Given the description of an element on the screen output the (x, y) to click on. 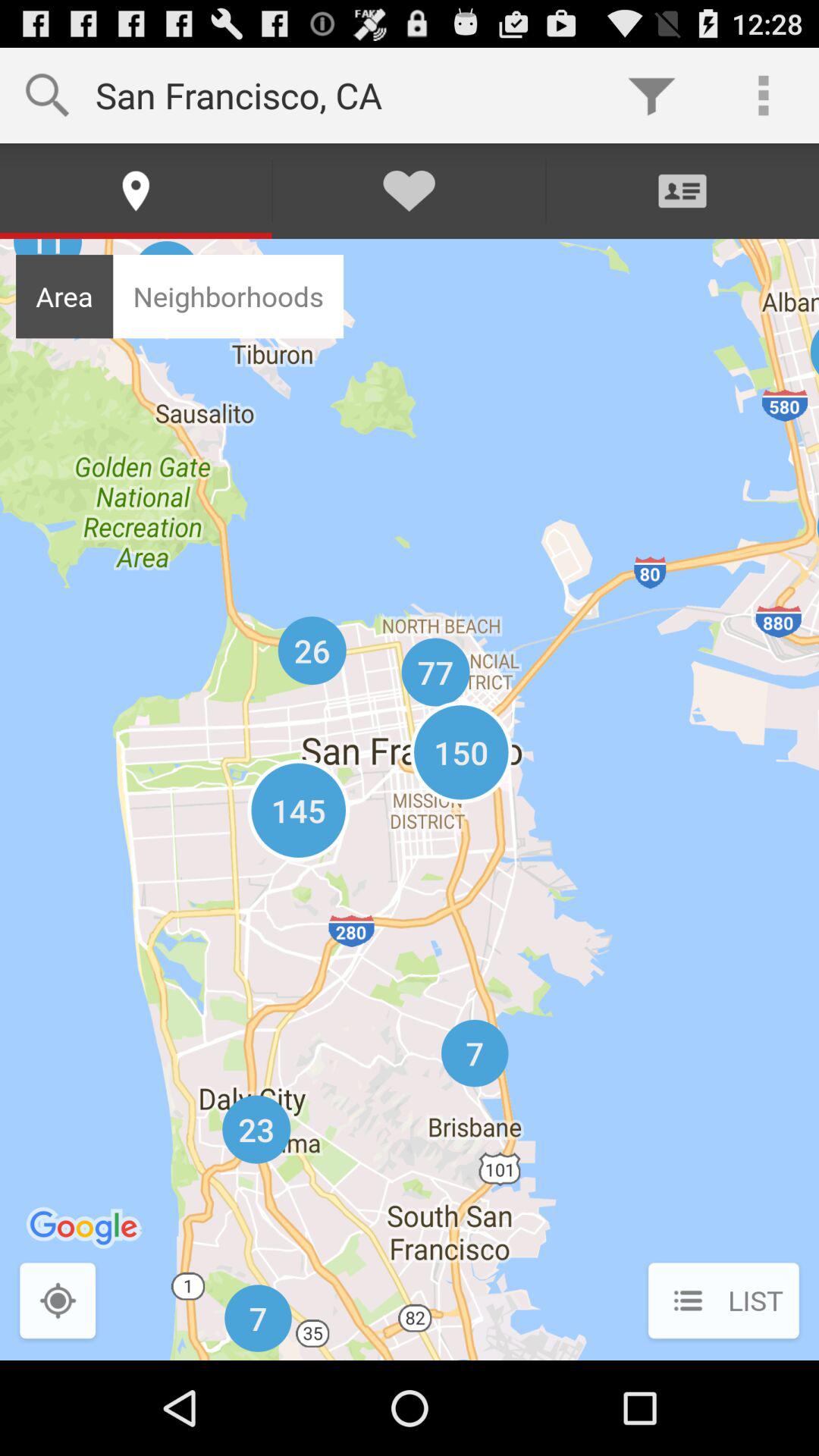
turn off icon to the left of neighborhoods item (64, 296)
